Given the description of an element on the screen output the (x, y) to click on. 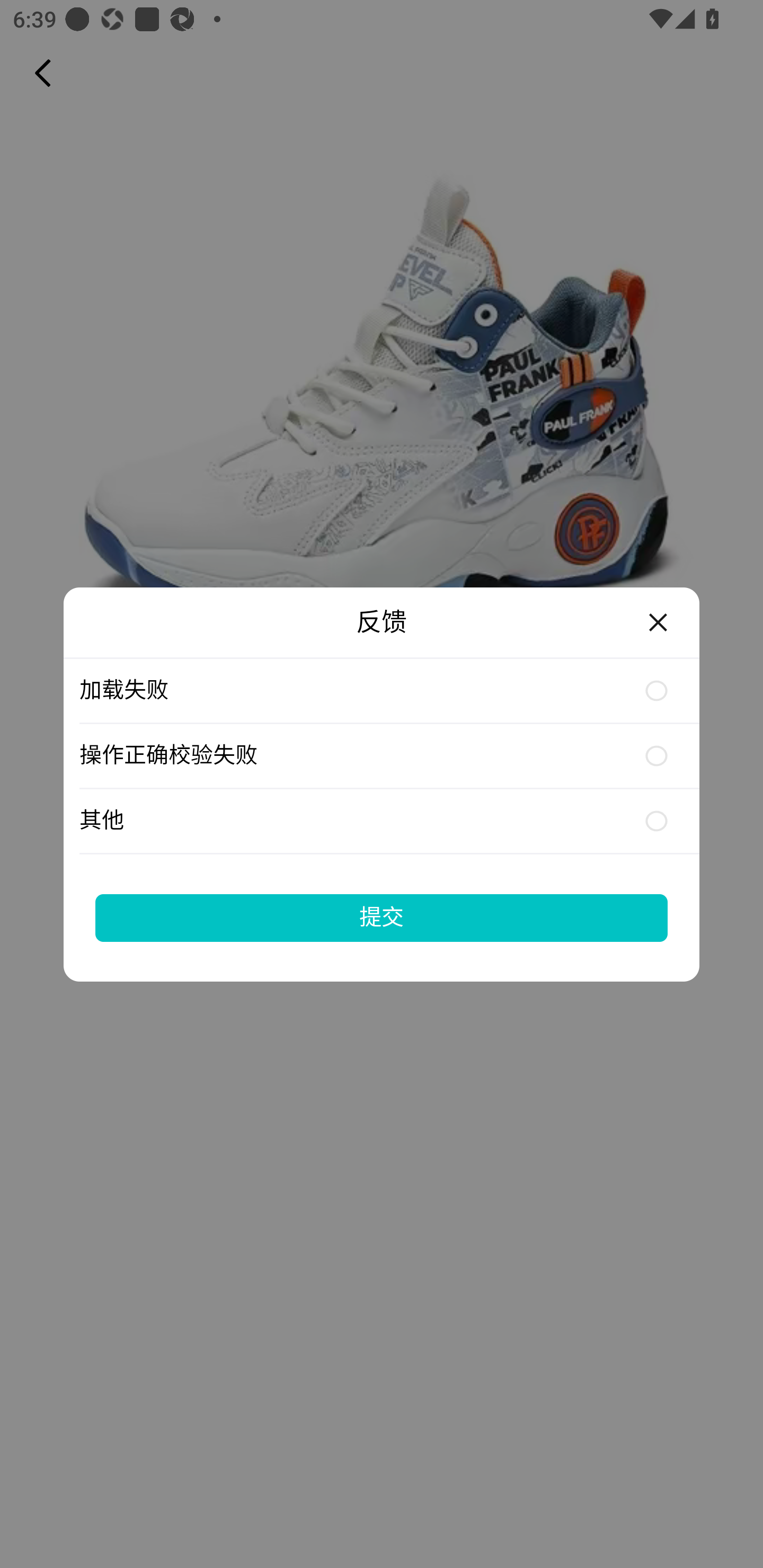
提交 (381, 917)
